Given the description of an element on the screen output the (x, y) to click on. 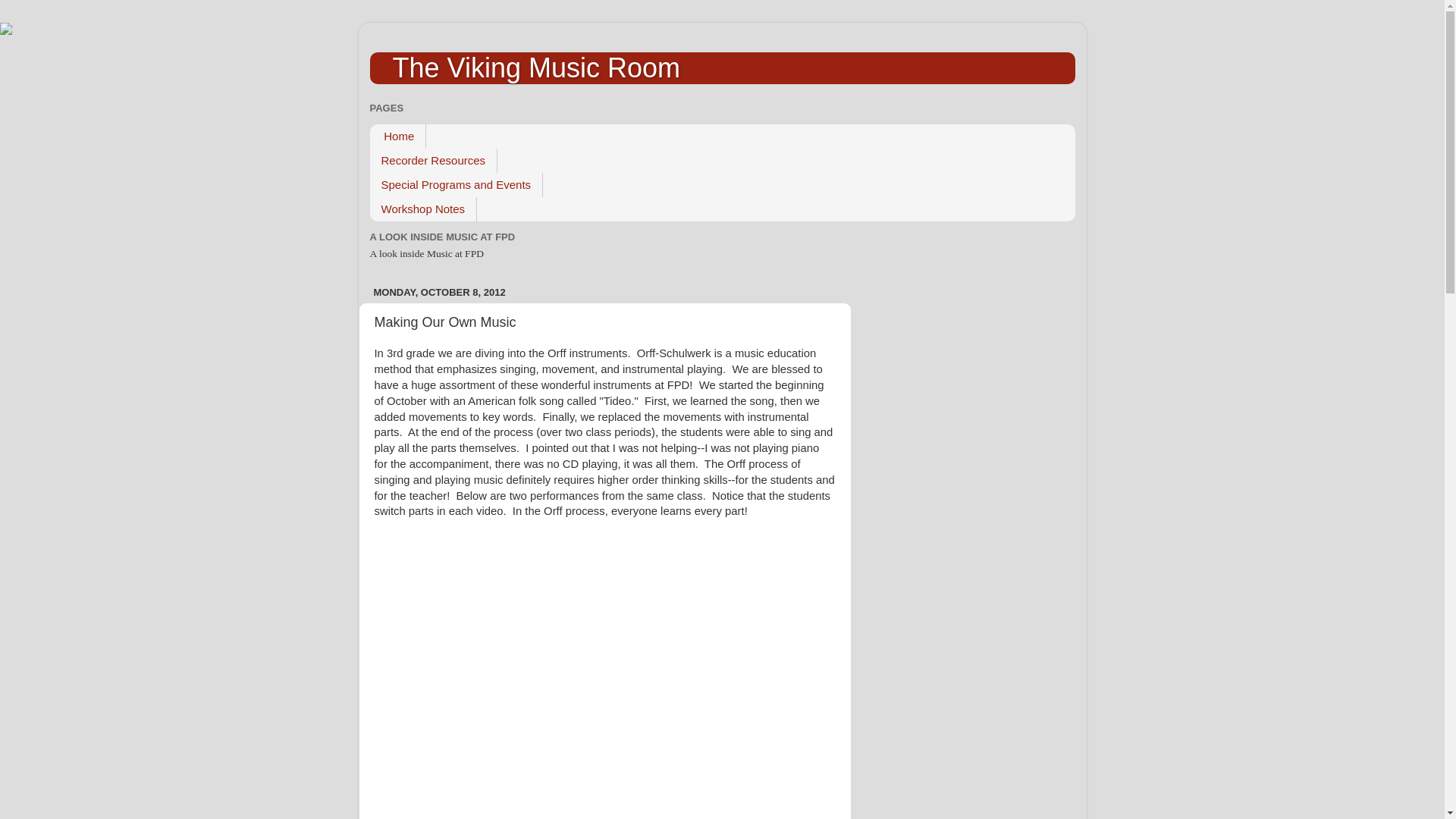
Recorder Resources (433, 160)
Workshop Notes (423, 209)
Special Programs and Events (456, 184)
Home (397, 136)
The Viking Music Room (536, 67)
